Given the description of an element on the screen output the (x, y) to click on. 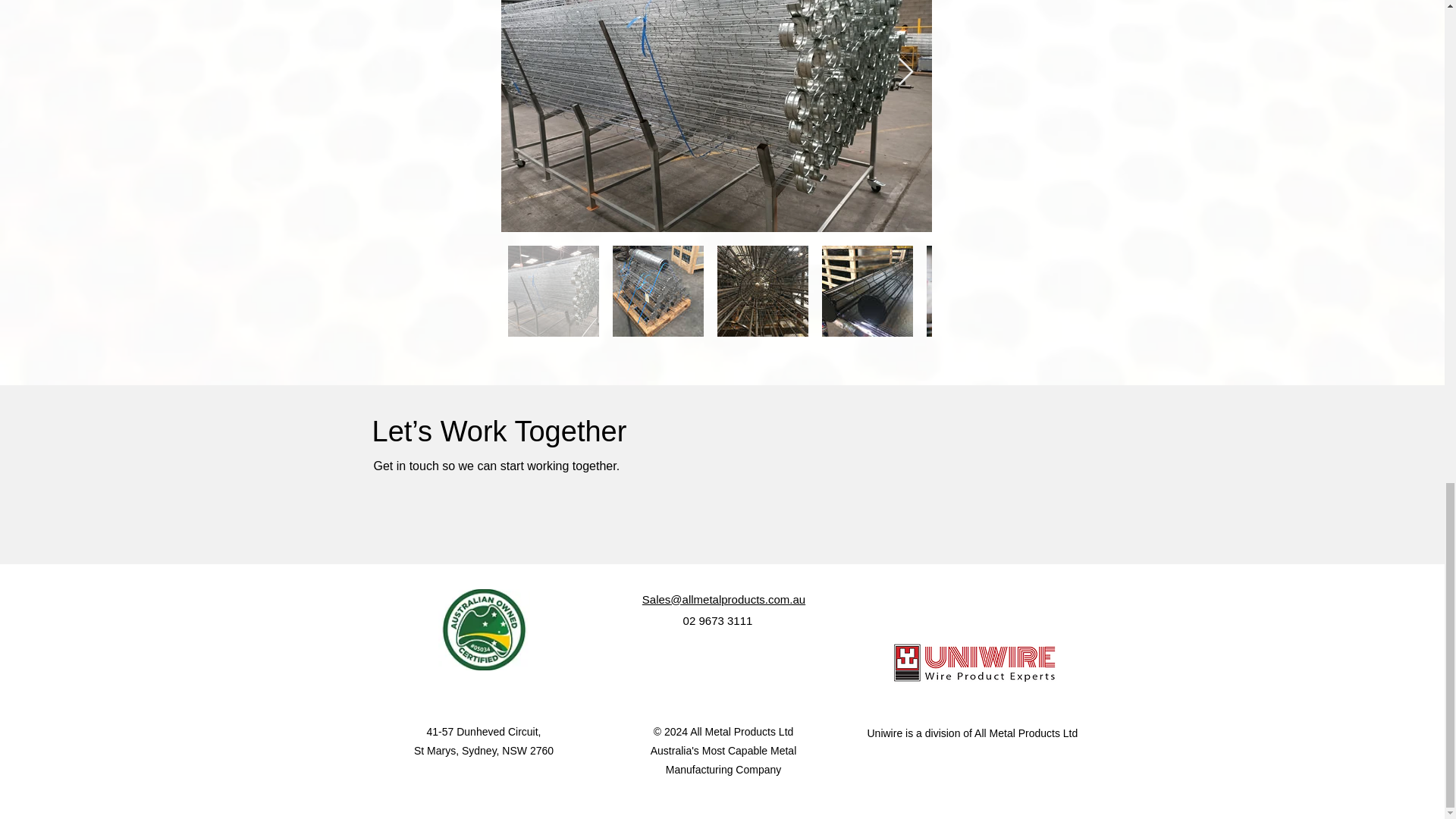
Uniwire Products Logo  (975, 662)
Australian Owned Certified (483, 628)
